Given the description of an element on the screen output the (x, y) to click on. 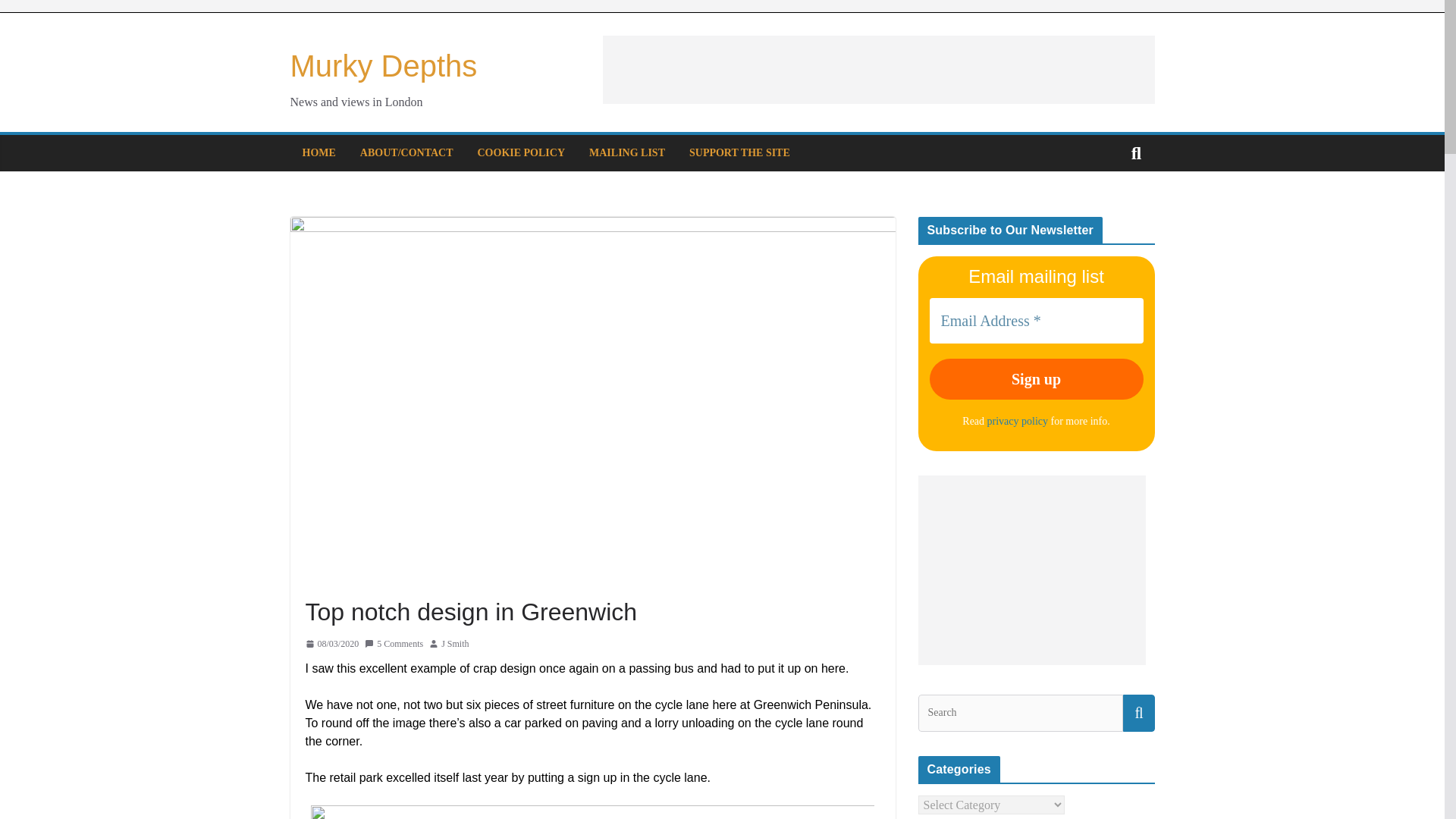
20:12 (331, 643)
COOKIE POLICY (521, 152)
HOME (317, 152)
Sign up (1036, 378)
J Smith (454, 643)
5 Comments (394, 643)
J Smith (454, 643)
MAILING LIST (627, 152)
Murky Depths (383, 65)
SUPPORT THE SITE (739, 152)
